Given the description of an element on the screen output the (x, y) to click on. 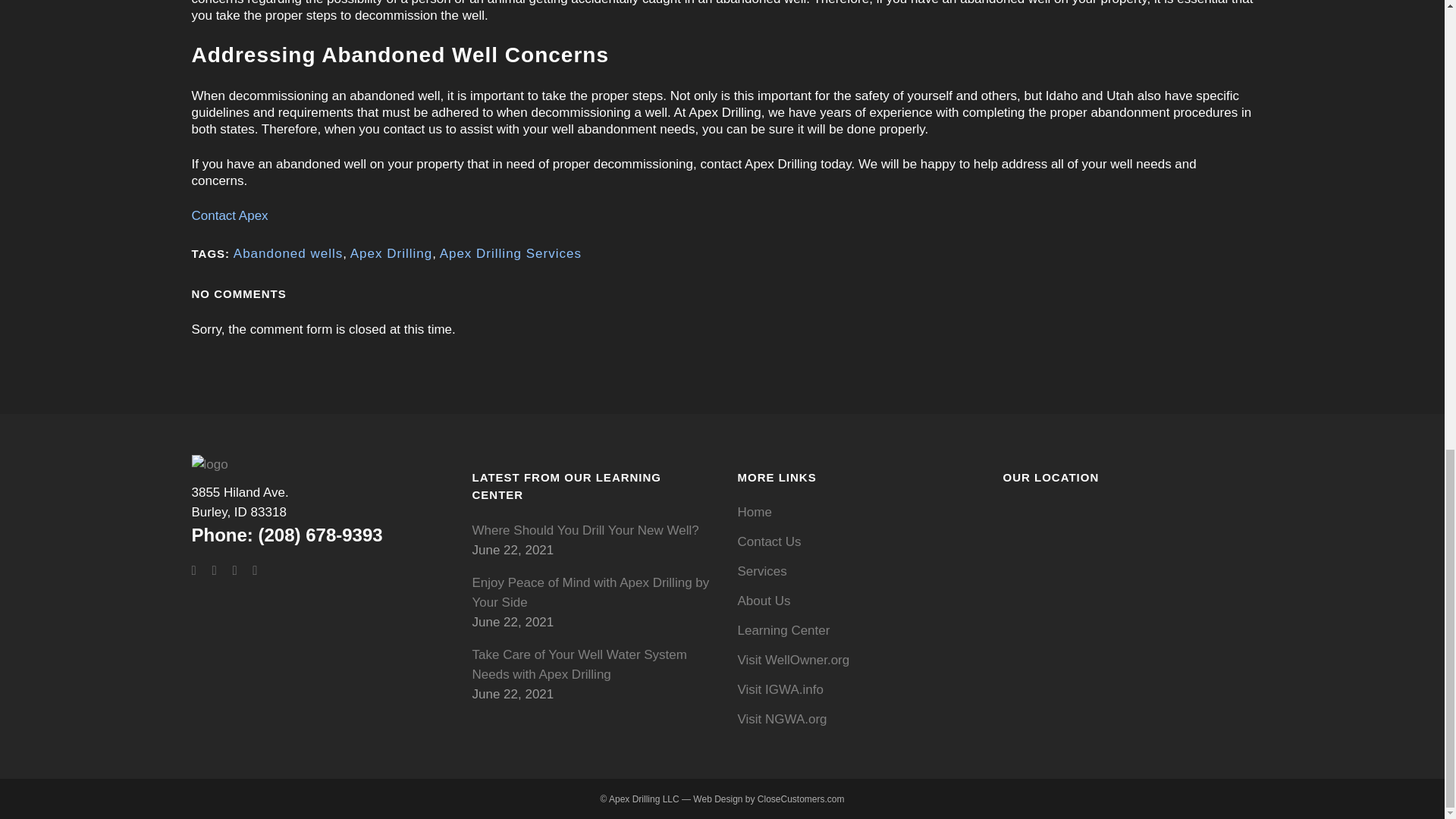
Abandoned wells (287, 253)
Contact Apex (239, 502)
Apex Drilling (228, 215)
Apex Drilling Services (391, 253)
